Given the description of an element on the screen output the (x, y) to click on. 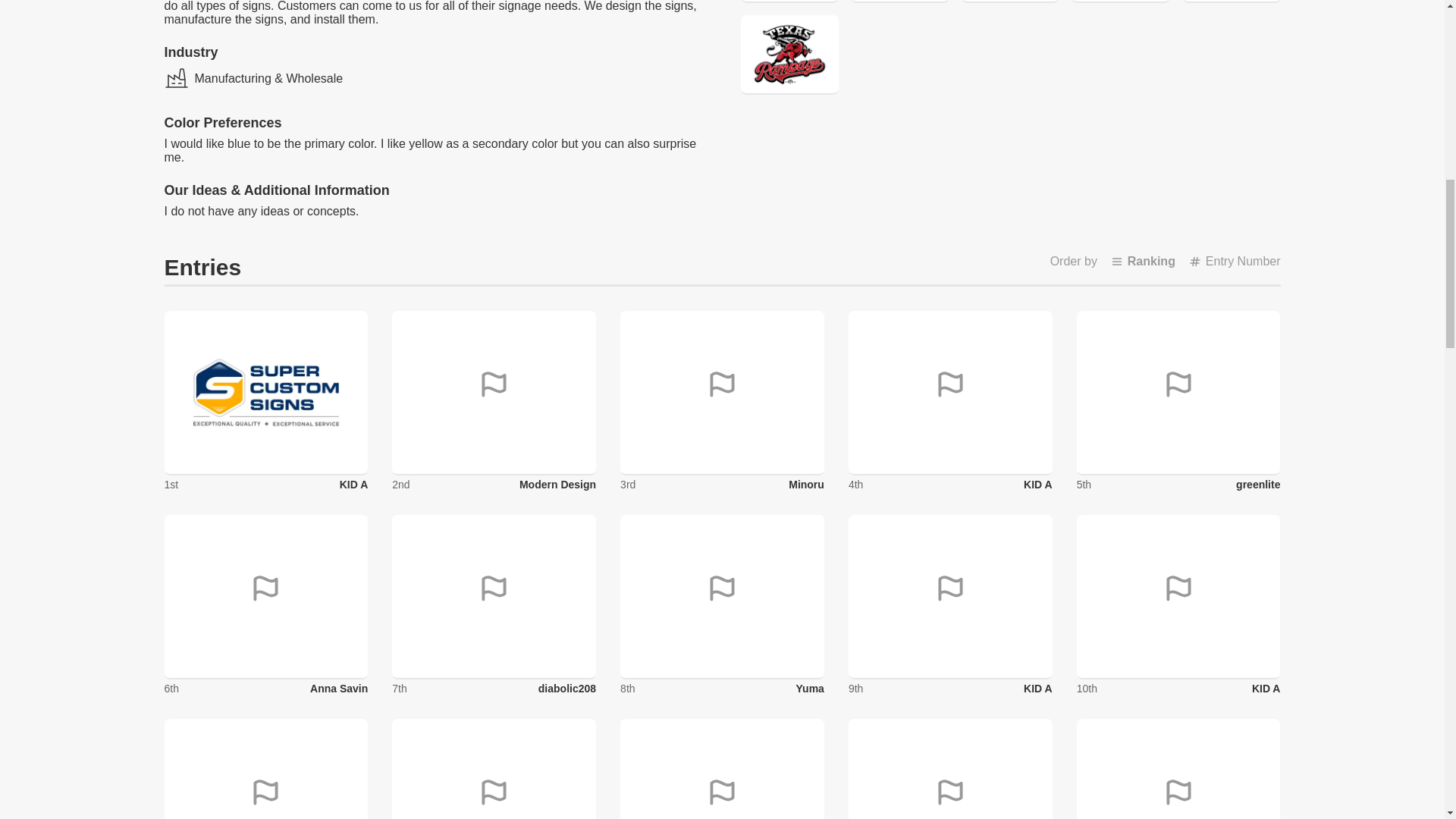
KID A (1037, 484)
greenlite (1257, 484)
diabolic208 (566, 688)
Anna Savin (339, 688)
Modern Design (557, 484)
KID A (1037, 688)
Yuma (810, 688)
KID A (353, 484)
KID A (1266, 688)
Minoru (806, 484)
